Given the description of an element on the screen output the (x, y) to click on. 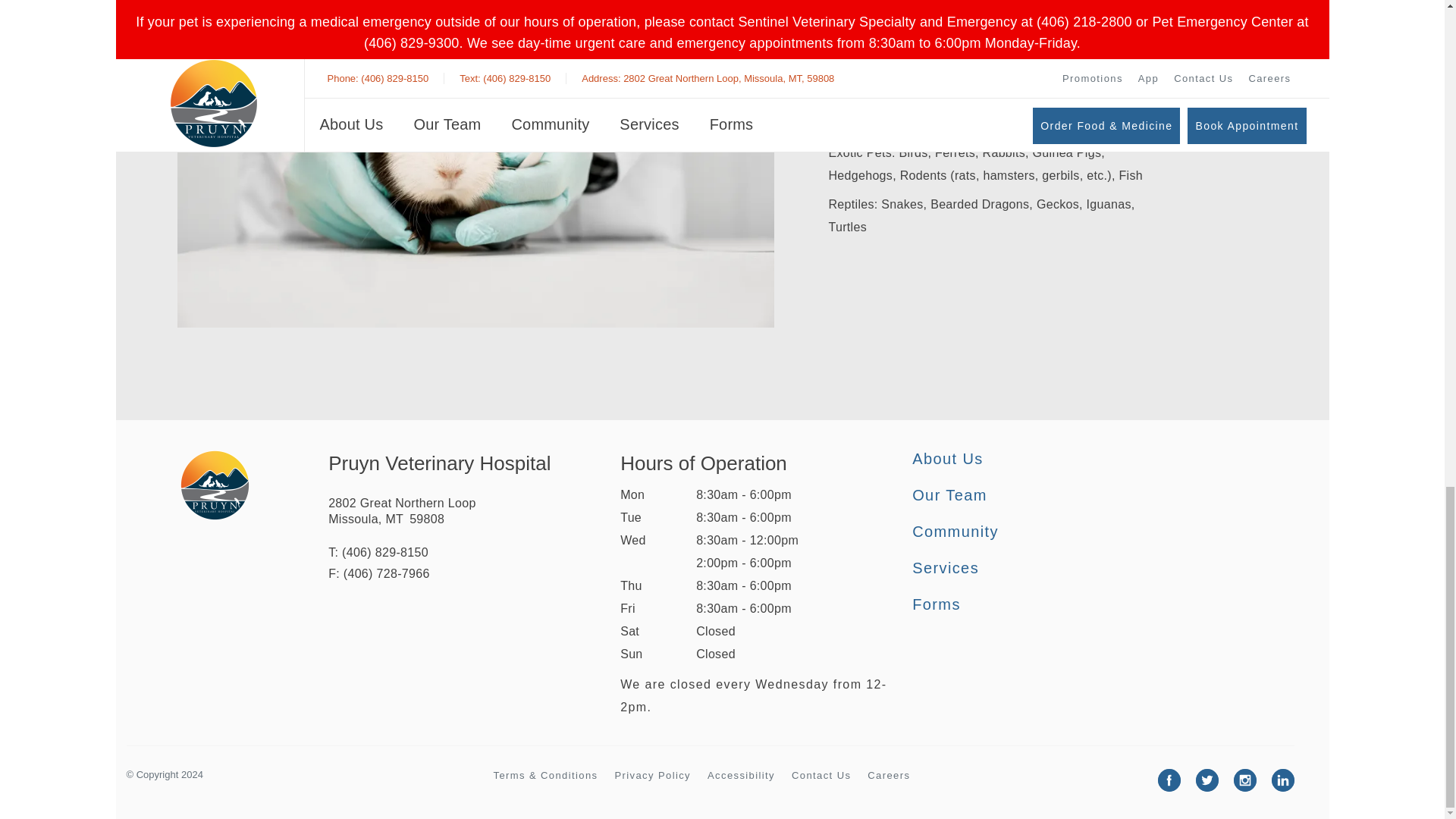
Forms (936, 634)
About Us (947, 489)
Services (945, 598)
Community (955, 561)
Our Team (949, 525)
